Given the description of an element on the screen output the (x, y) to click on. 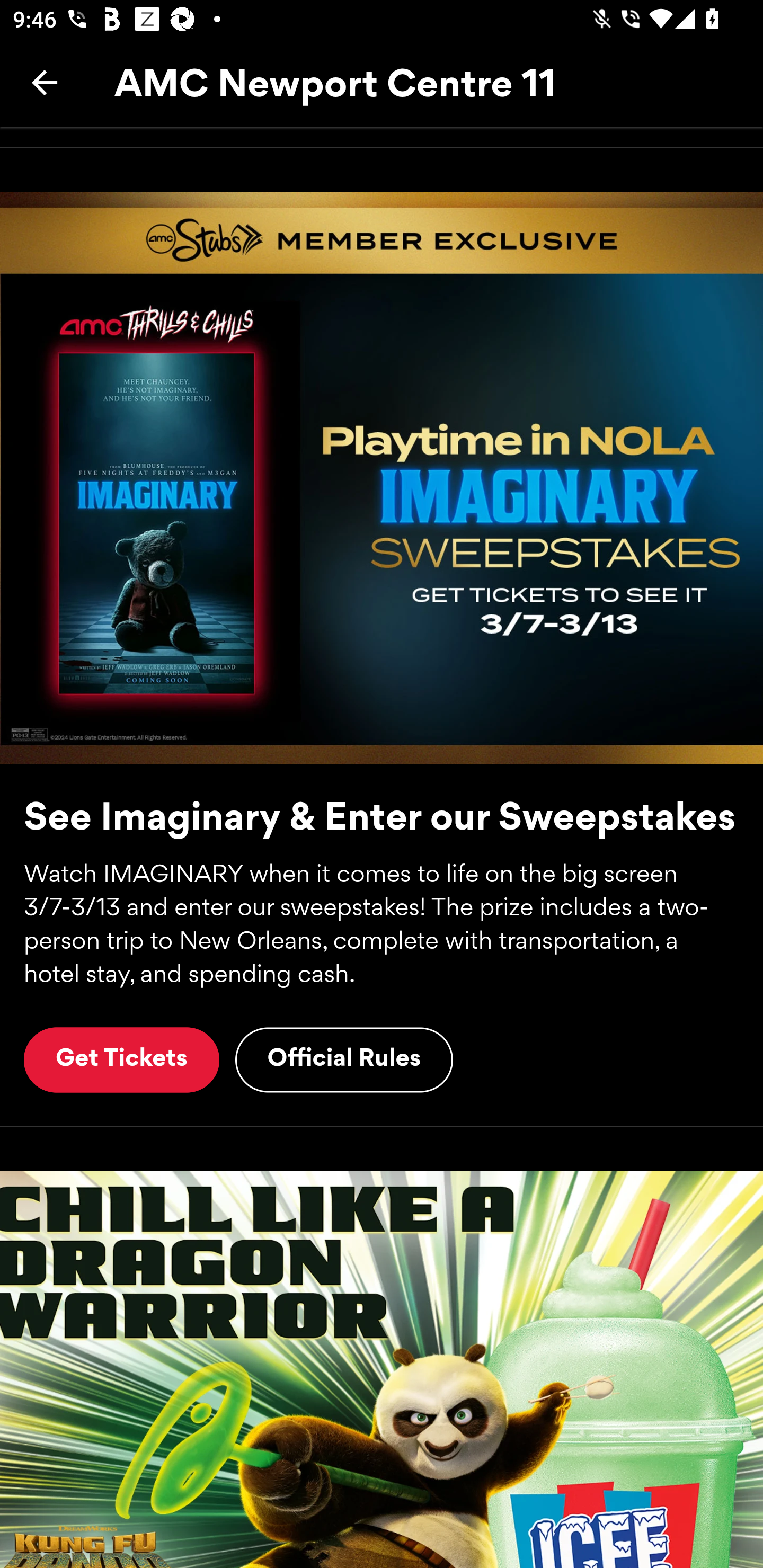
Back (44, 82)
Get Tickets (121, 1059)
Official Rules (344, 1059)
